Given the description of an element on the screen output the (x, y) to click on. 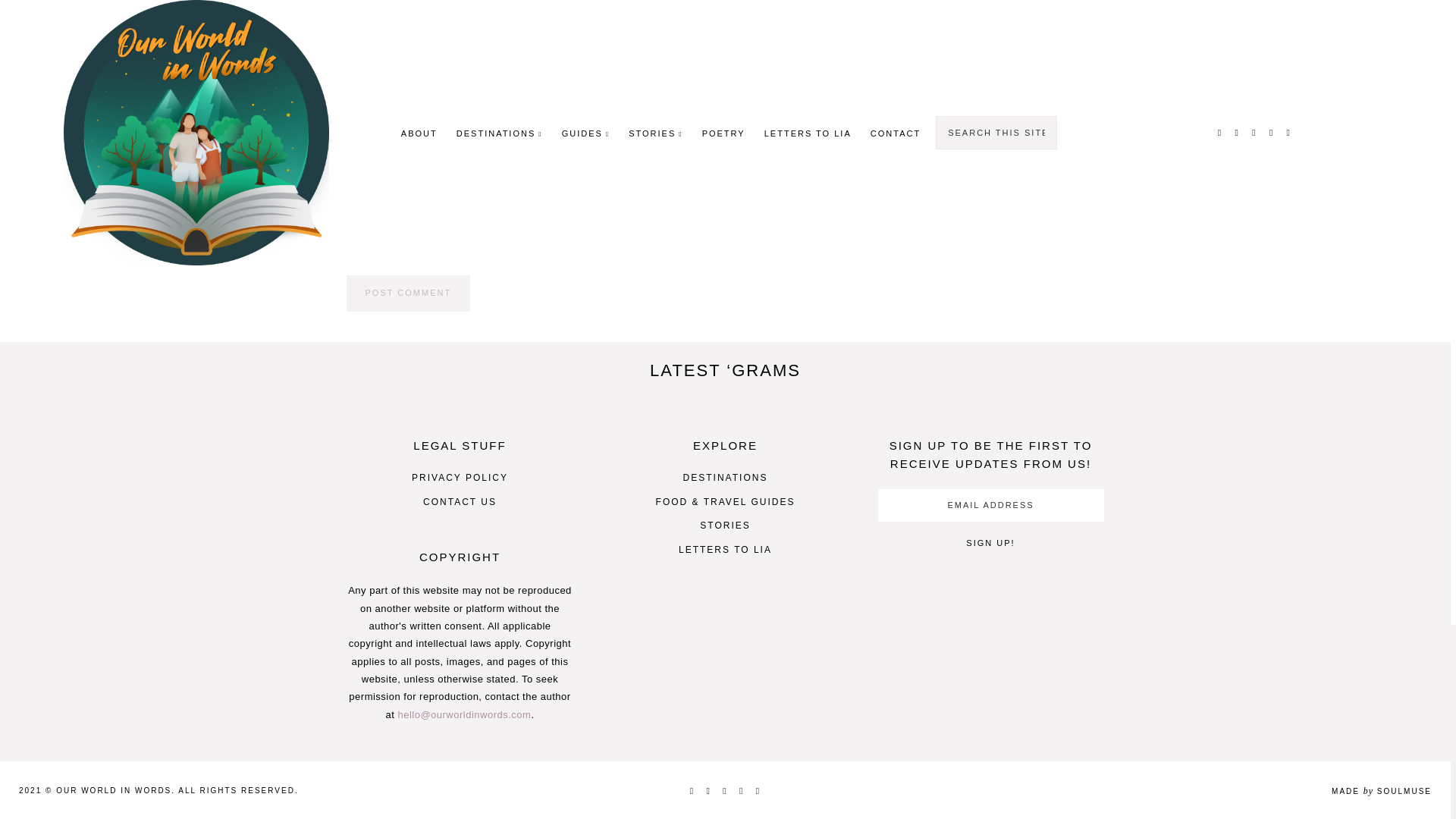
Post Comment (408, 293)
yes (350, 239)
Sign up! (989, 543)
